Given the description of an element on the screen output the (x, y) to click on. 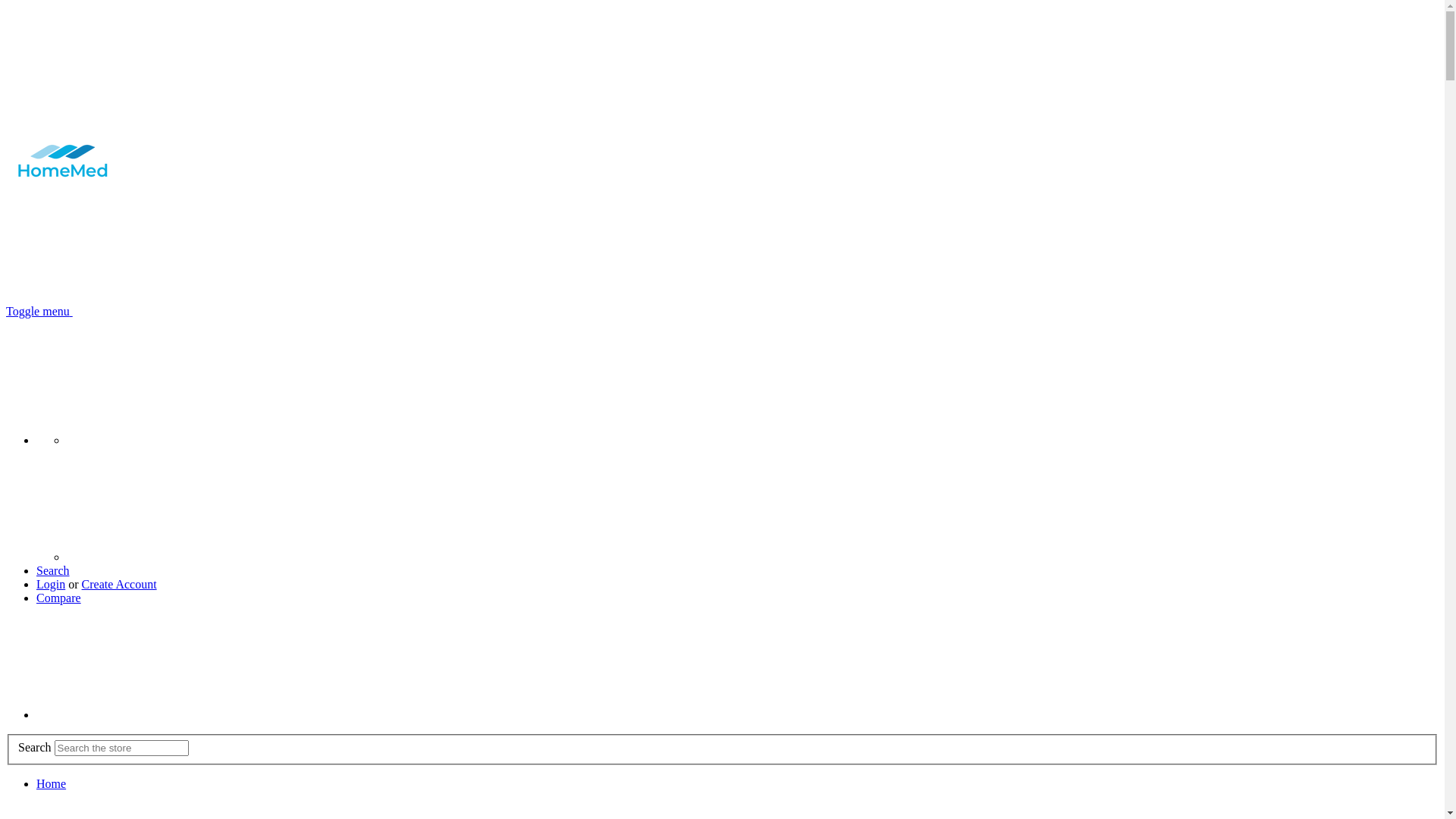
Login Element type: text (50, 583)
Create Account Element type: text (118, 583)
Home Element type: text (50, 783)
Compare Element type: text (58, 597)
Search Element type: text (52, 570)
Toggle menu Element type: text (39, 310)
